Given the description of an element on the screen output the (x, y) to click on. 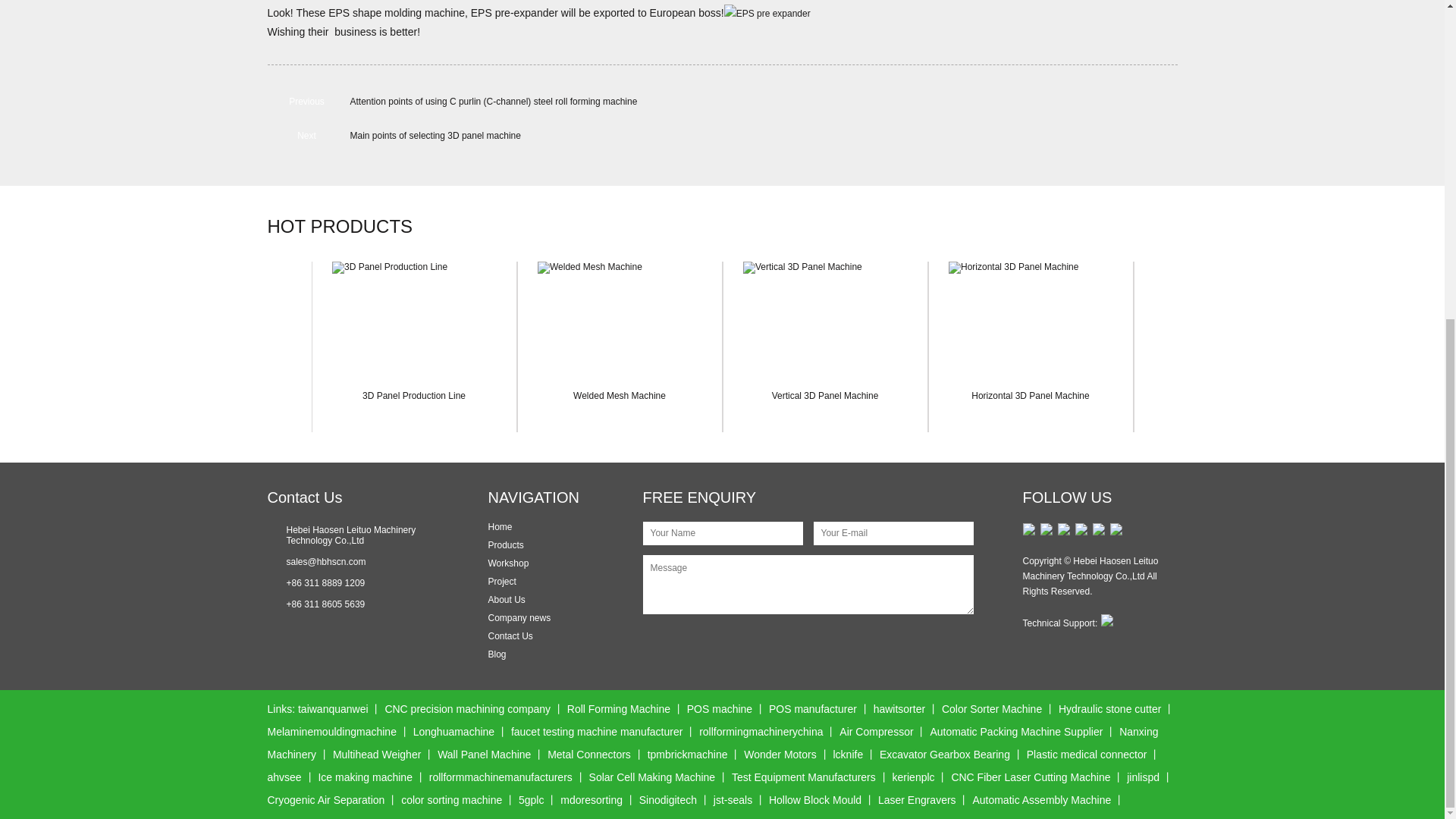
EPS pre expander  (766, 13)
3D Panel Production Line (414, 395)
Main points of selecting 3D panel machine (435, 135)
3D Panel Production Line (414, 320)
Welded Mesh Machine (618, 395)
Welded Mesh Machine (618, 320)
